Given the description of an element on the screen output the (x, y) to click on. 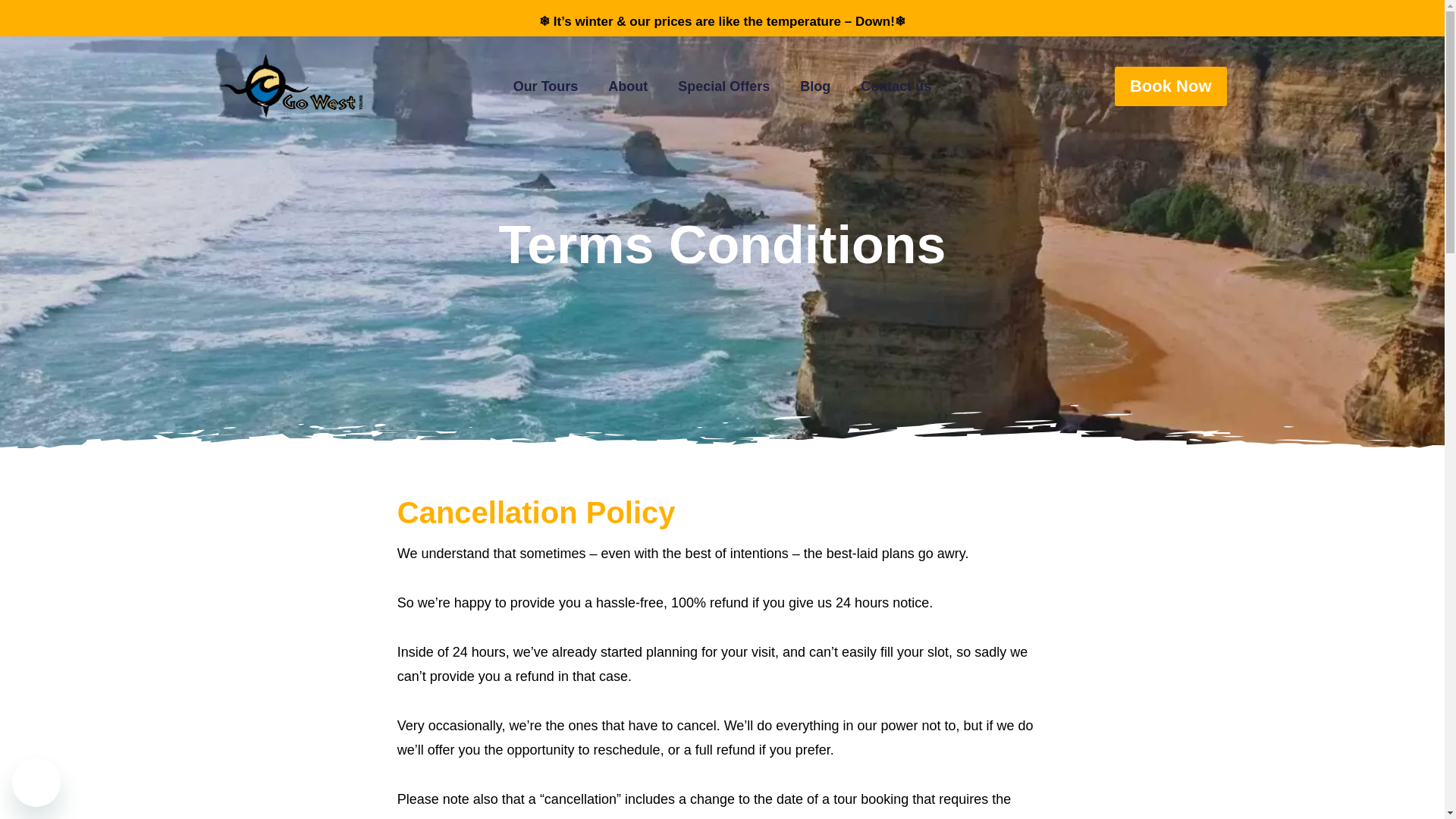
Blog (814, 86)
Our Tours (545, 86)
Button to launch messaging window (36, 782)
About (627, 86)
Contact us (895, 86)
Special Offers (723, 86)
